Given the description of an element on the screen output the (x, y) to click on. 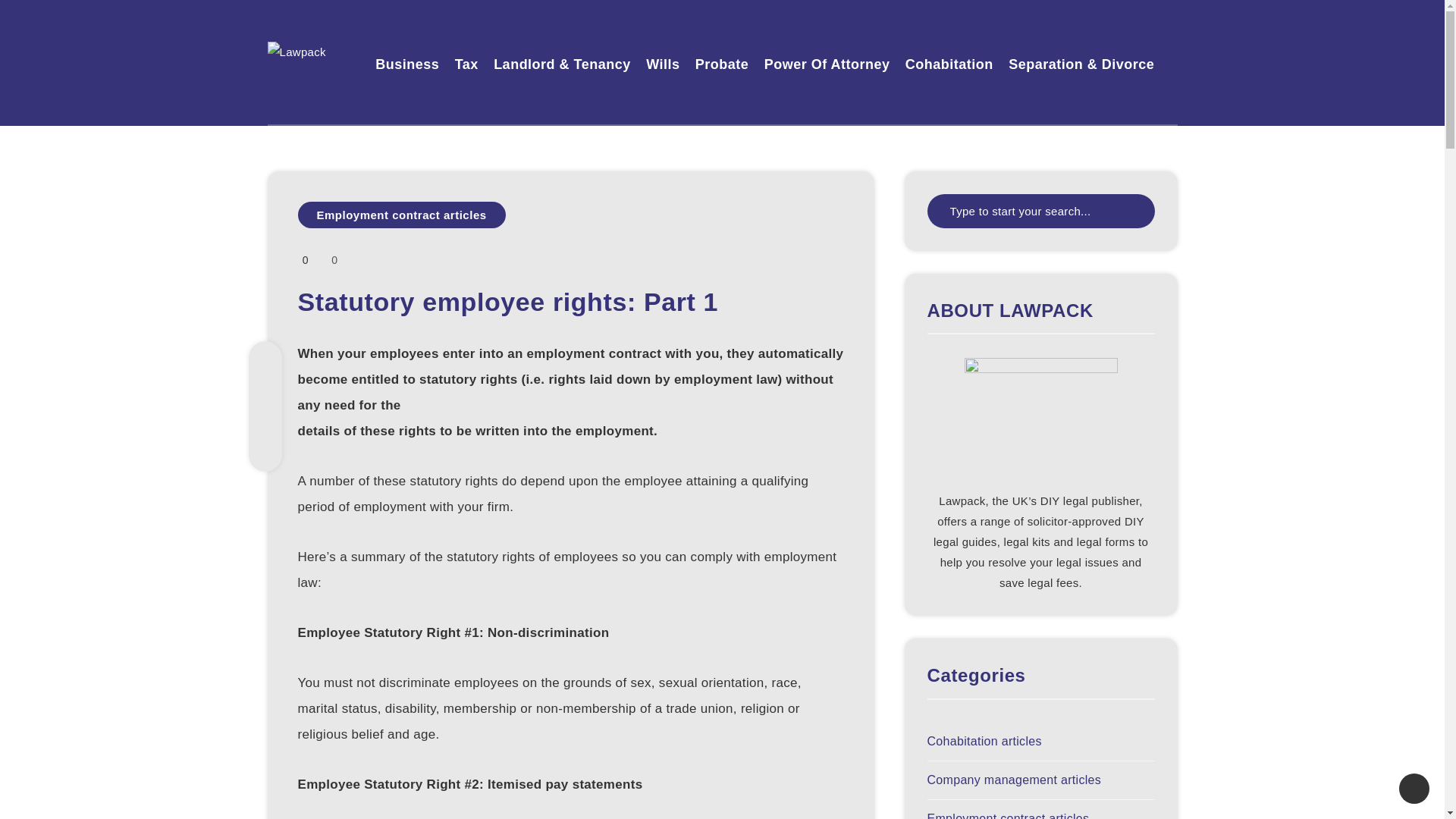
Tax (466, 65)
Probate (722, 65)
Wills (662, 65)
Employment contract articles (401, 214)
Business (407, 65)
Views (304, 259)
Cohabitation (948, 65)
Power Of Attorney (826, 65)
